Given the description of an element on the screen output the (x, y) to click on. 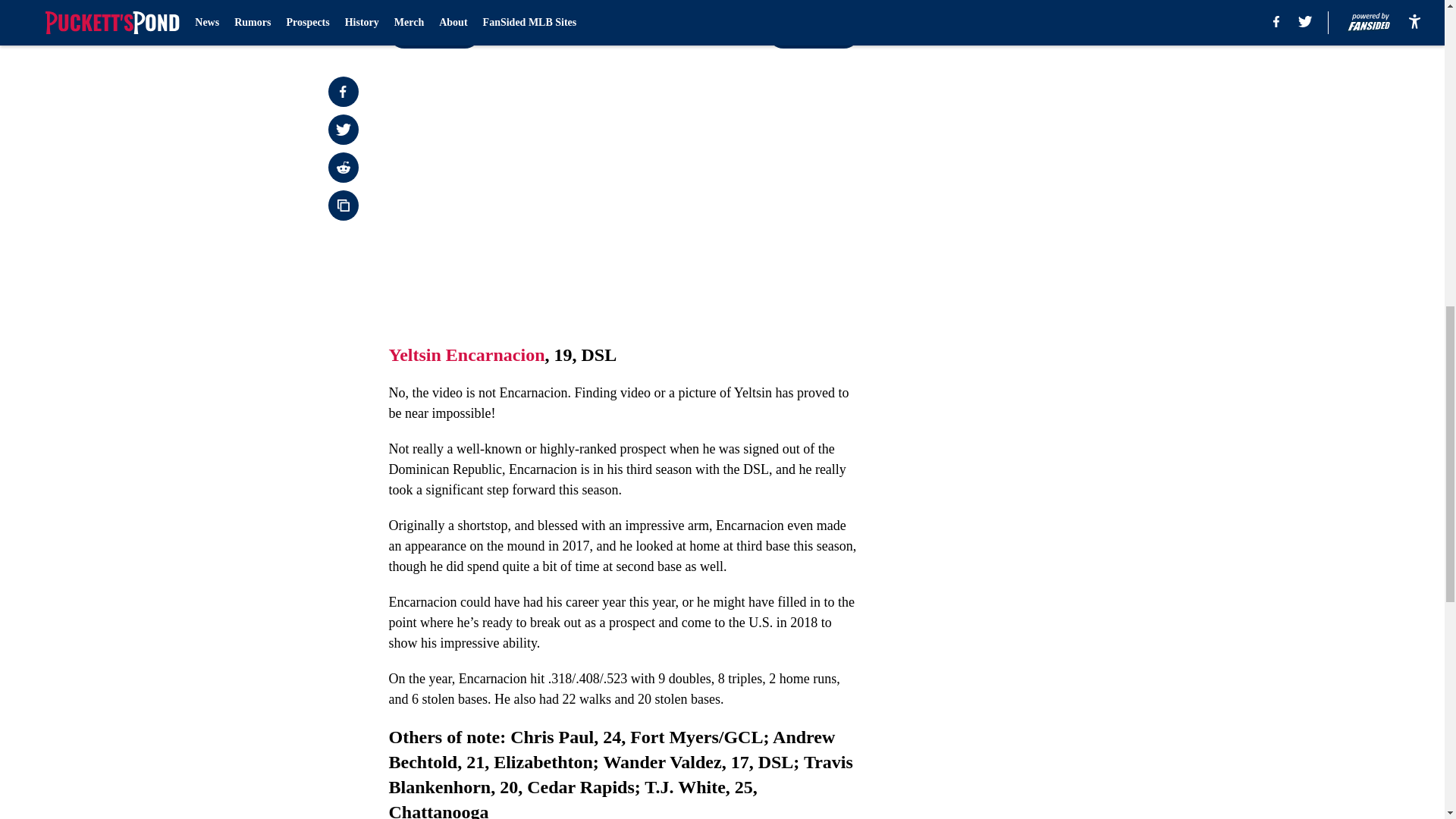
Next (813, 33)
Prev (433, 33)
Yeltsin Encarnacion (466, 354)
